Given the description of an element on the screen output the (x, y) to click on. 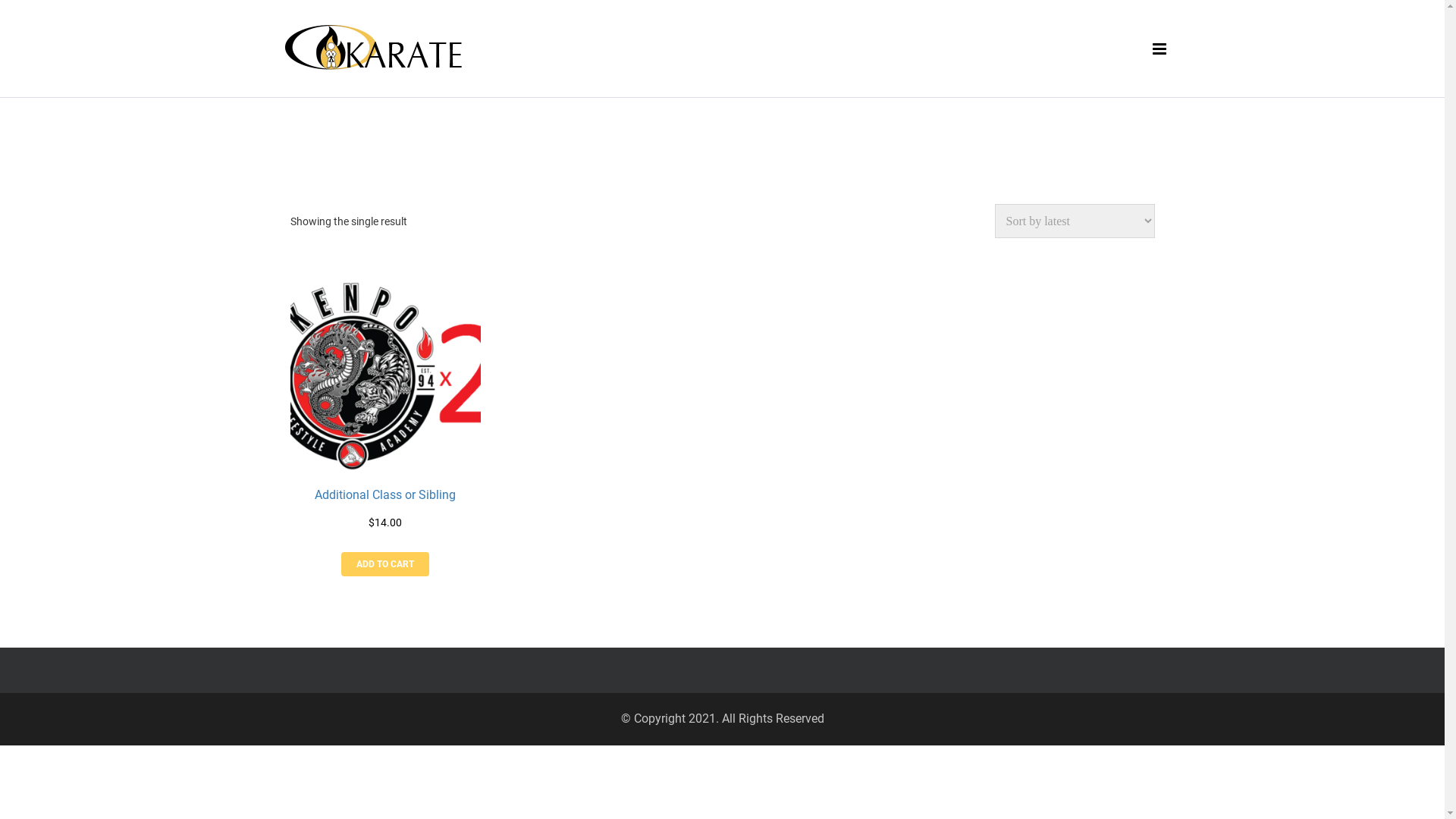
ADD TO CART Element type: text (385, 564)
Additional Class or Sibling
$14.00 Element type: text (384, 393)
